Given the description of an element on the screen output the (x, y) to click on. 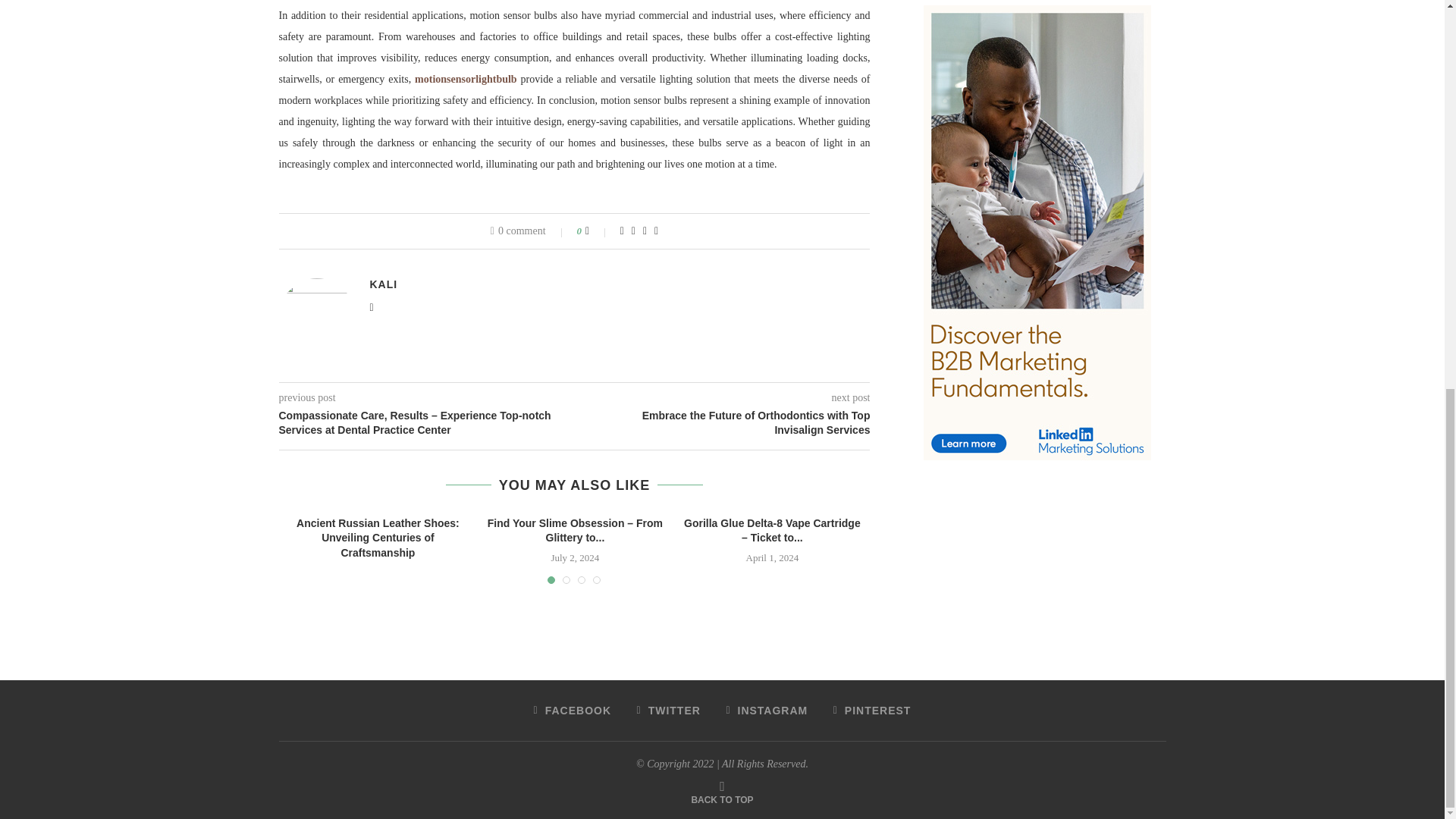
KALI (383, 284)
Like (597, 231)
motionsensorlightbulb (465, 79)
Author kali (383, 284)
